Given the description of an element on the screen output the (x, y) to click on. 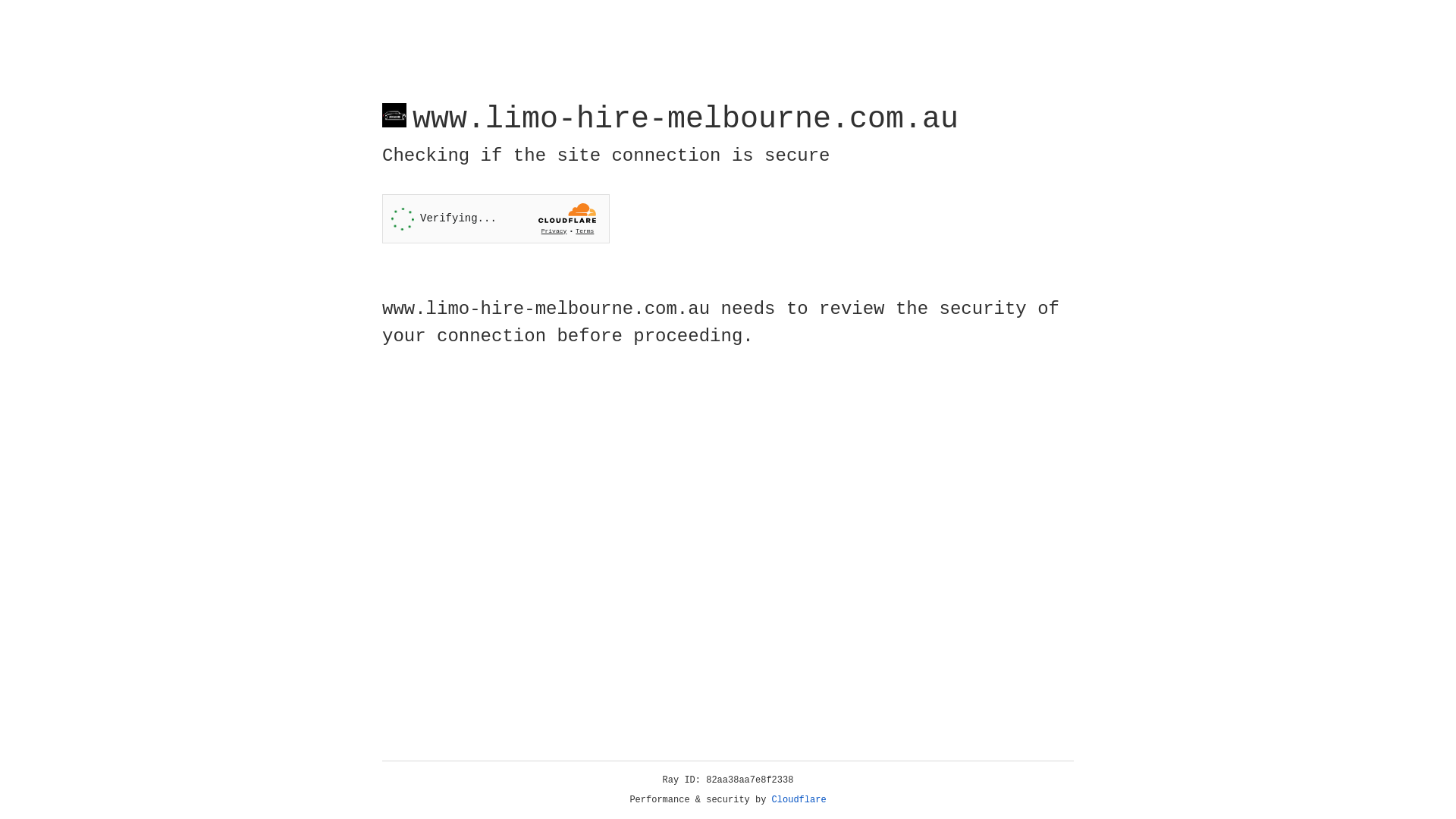
Widget containing a Cloudflare security challenge Element type: hover (495, 218)
Cloudflare Element type: text (798, 799)
